Given the description of an element on the screen output the (x, y) to click on. 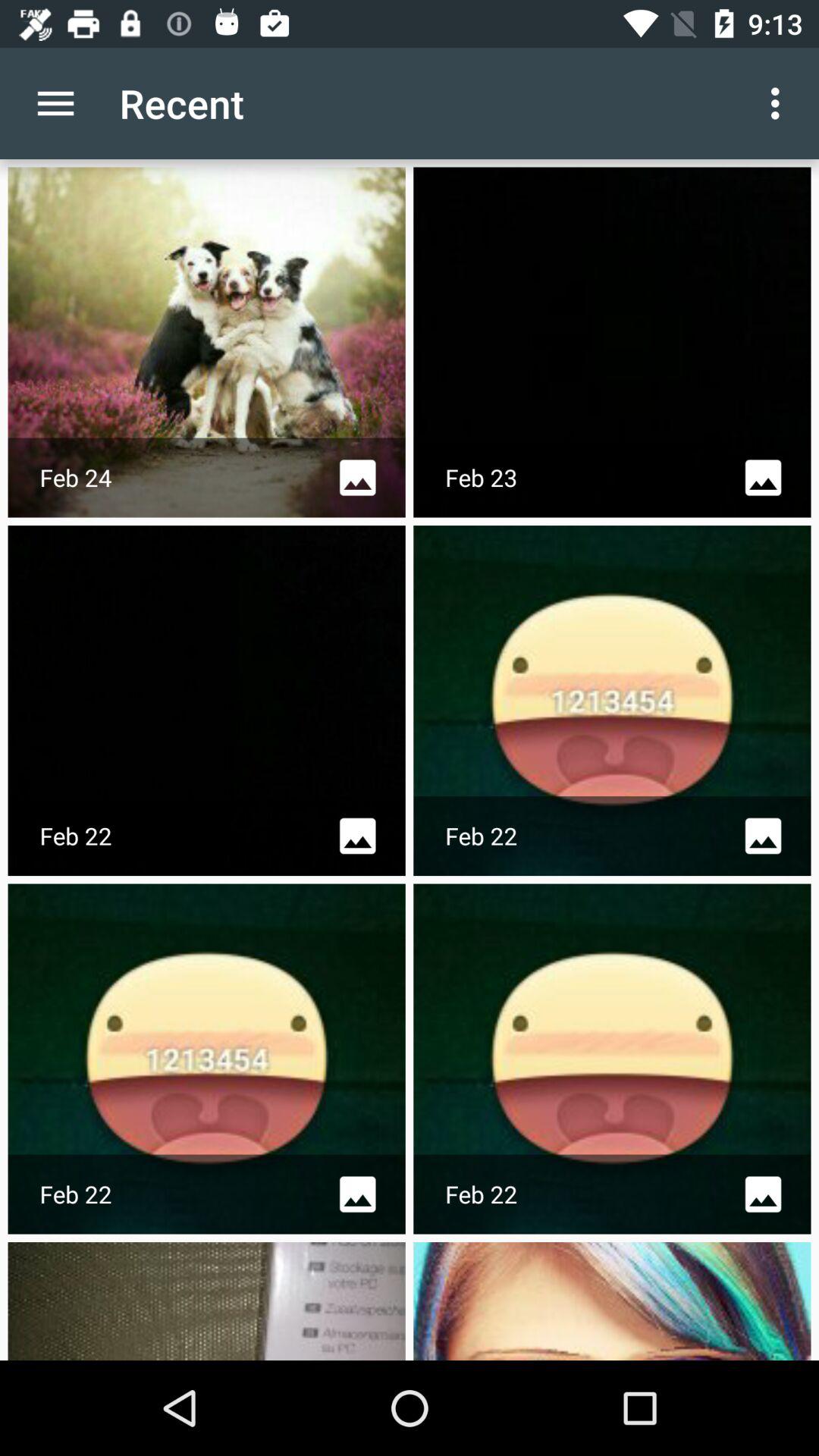
select app next to the recent app (779, 103)
